Given the description of an element on the screen output the (x, y) to click on. 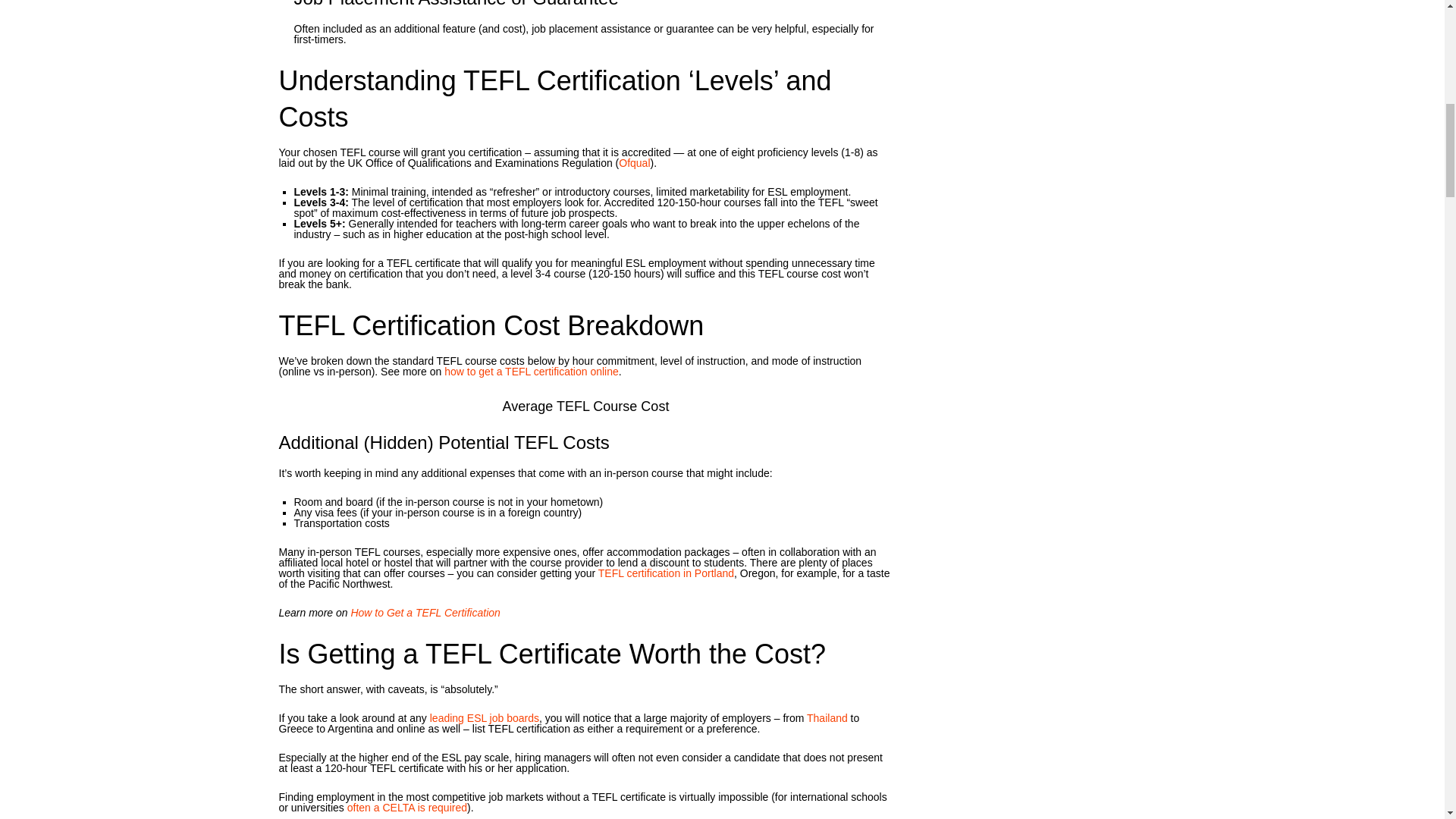
how to get a TEFL certification online (531, 371)
leading ESL job boards (483, 717)
How to Get a TEFL Certification (424, 612)
Ofqual (633, 162)
Thailand (826, 717)
often a CELTA is required (407, 807)
TEFL certification in Portland (665, 573)
